Given the description of an element on the screen output the (x, y) to click on. 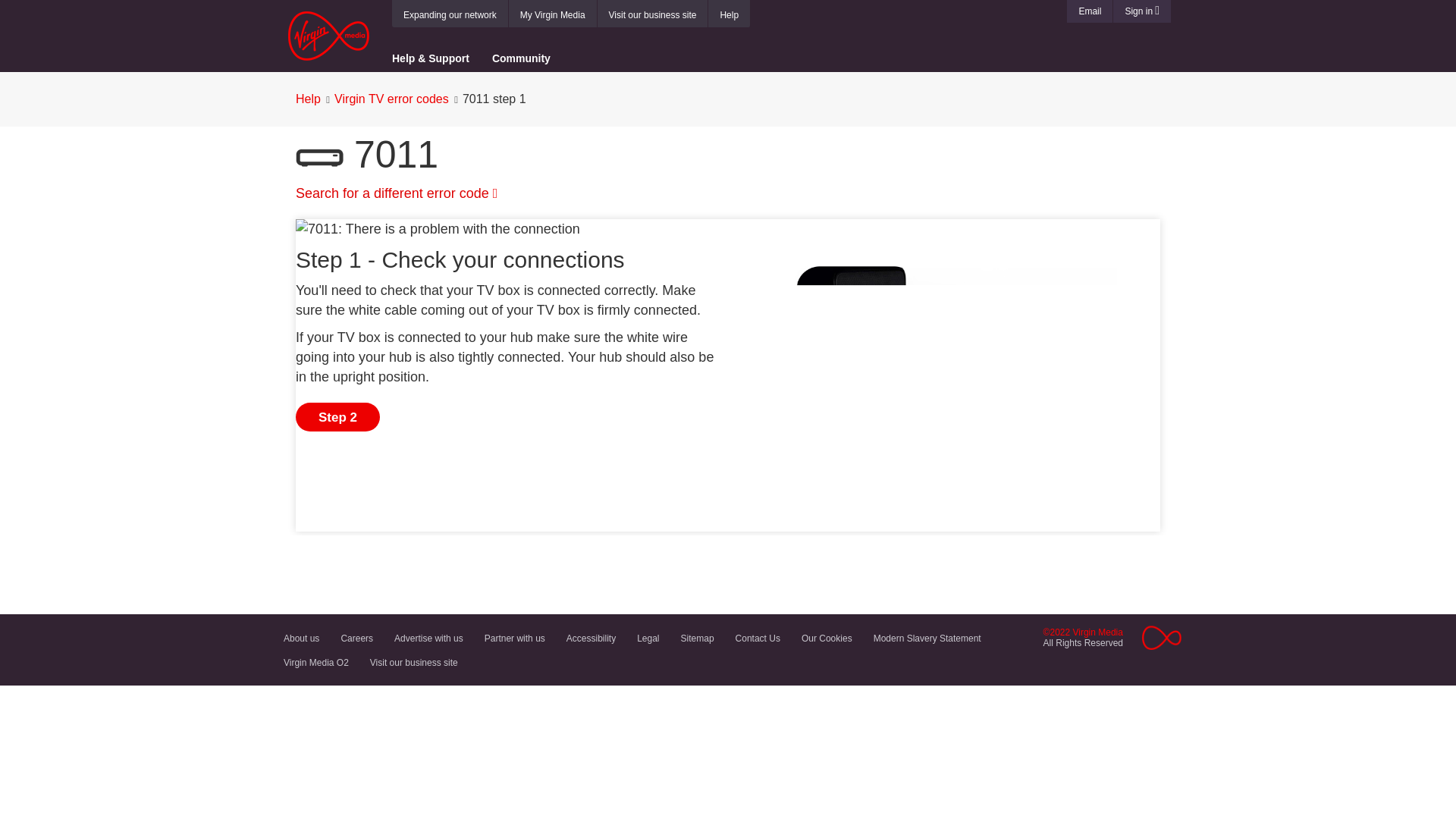
Email (1089, 11)
Accessibility (591, 638)
Sitemap (697, 638)
Help (728, 14)
Careers (357, 638)
Sign in (1141, 11)
Search for a different error code  (396, 192)
Step 2 (337, 416)
Step 2  (337, 416)
Community (521, 56)
